Given the description of an element on the screen output the (x, y) to click on. 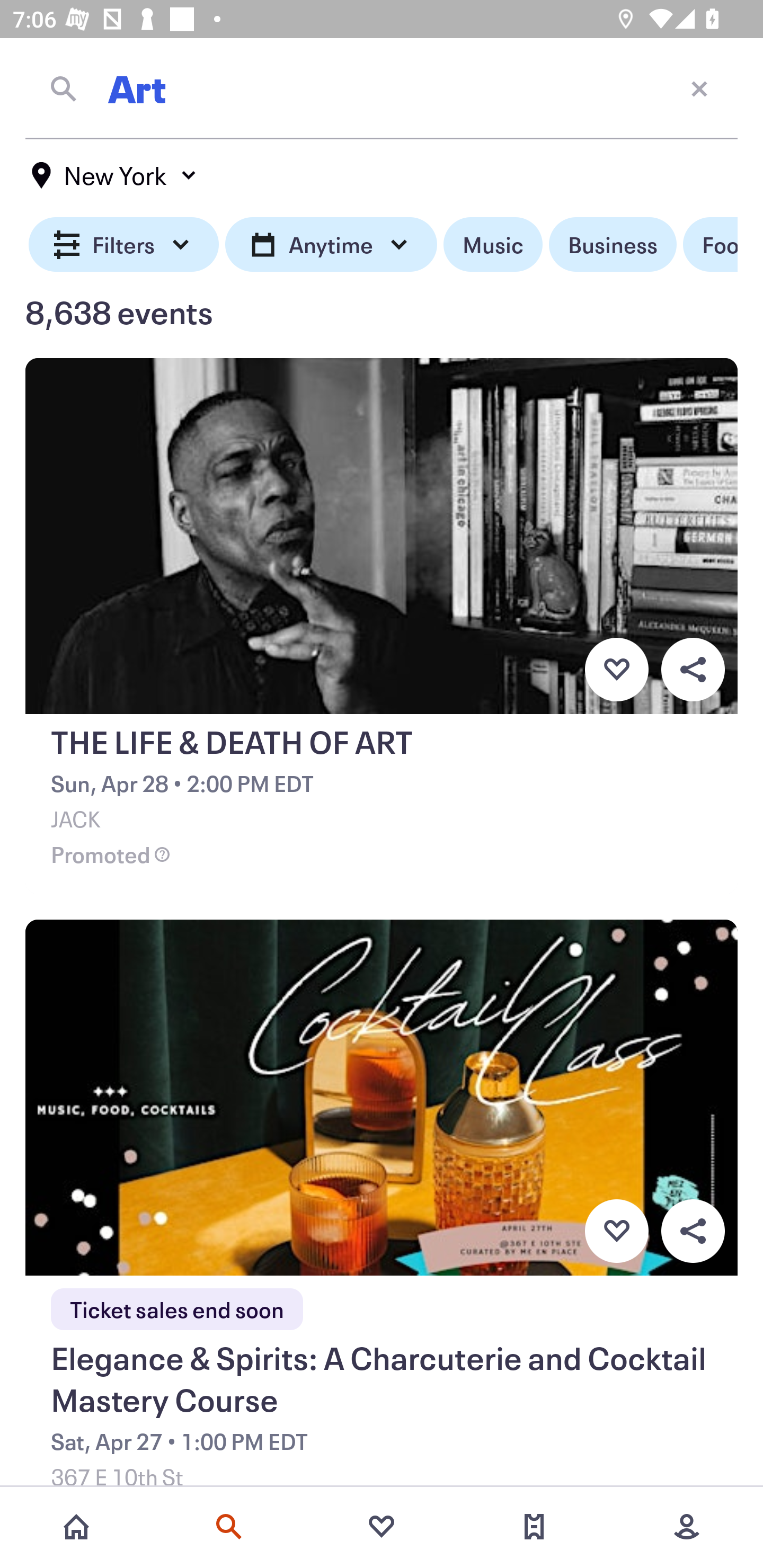
Art Close current screen (381, 88)
Close current screen (699, 88)
New York (114, 175)
Filters (123, 244)
Anytime (331, 244)
Music (492, 244)
Business (612, 244)
Favorite button (616, 669)
Overflow menu button (692, 669)
Favorite button (616, 1230)
Overflow menu button (692, 1230)
Home (76, 1526)
Search events (228, 1526)
Favorites (381, 1526)
Tickets (533, 1526)
More (686, 1526)
